Given the description of an element on the screen output the (x, y) to click on. 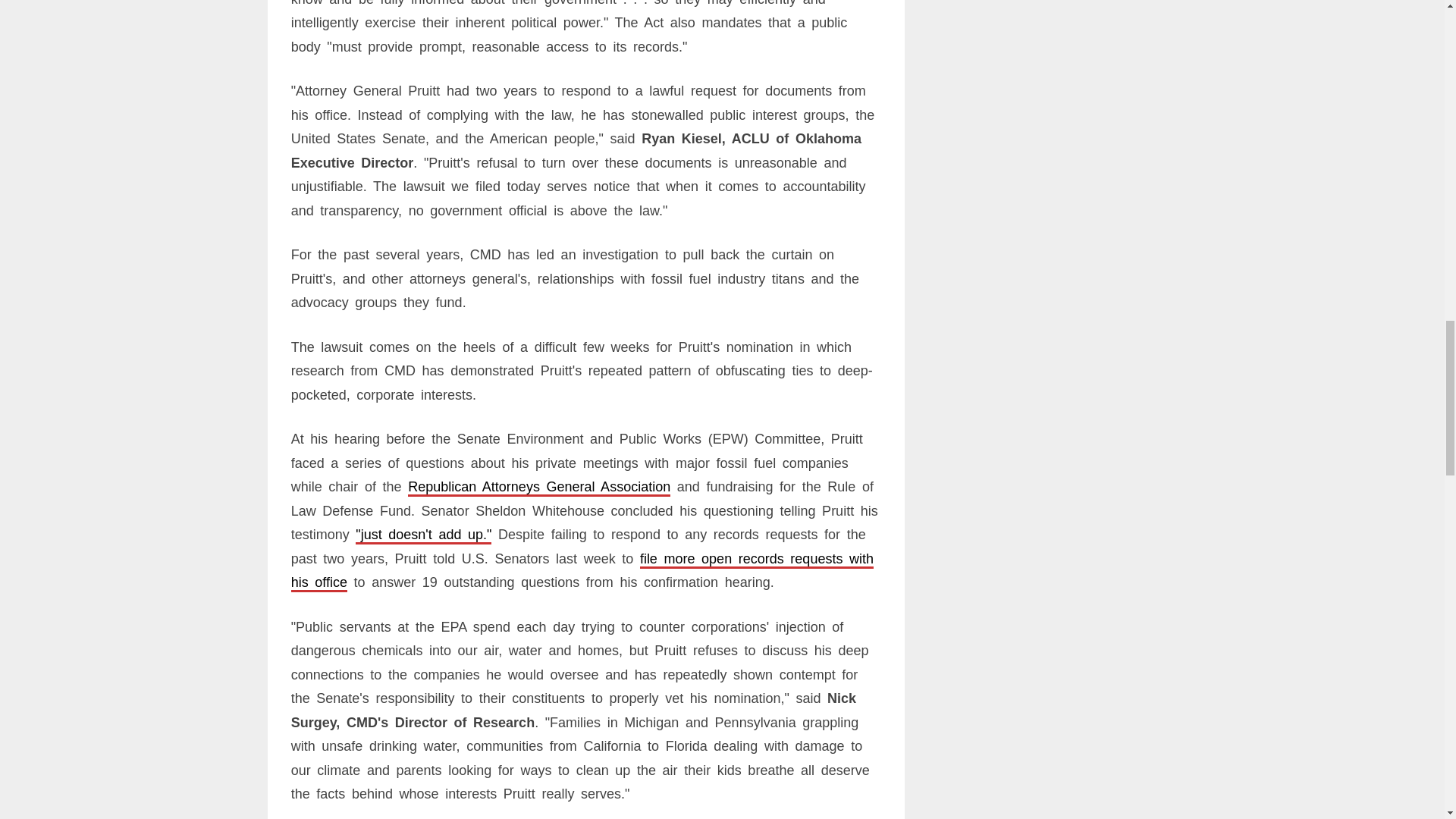
Republican Attorneys General Association (538, 486)
"just doesn't add up." (423, 534)
file more open records requests with his office (582, 570)
